Given the description of an element on the screen output the (x, y) to click on. 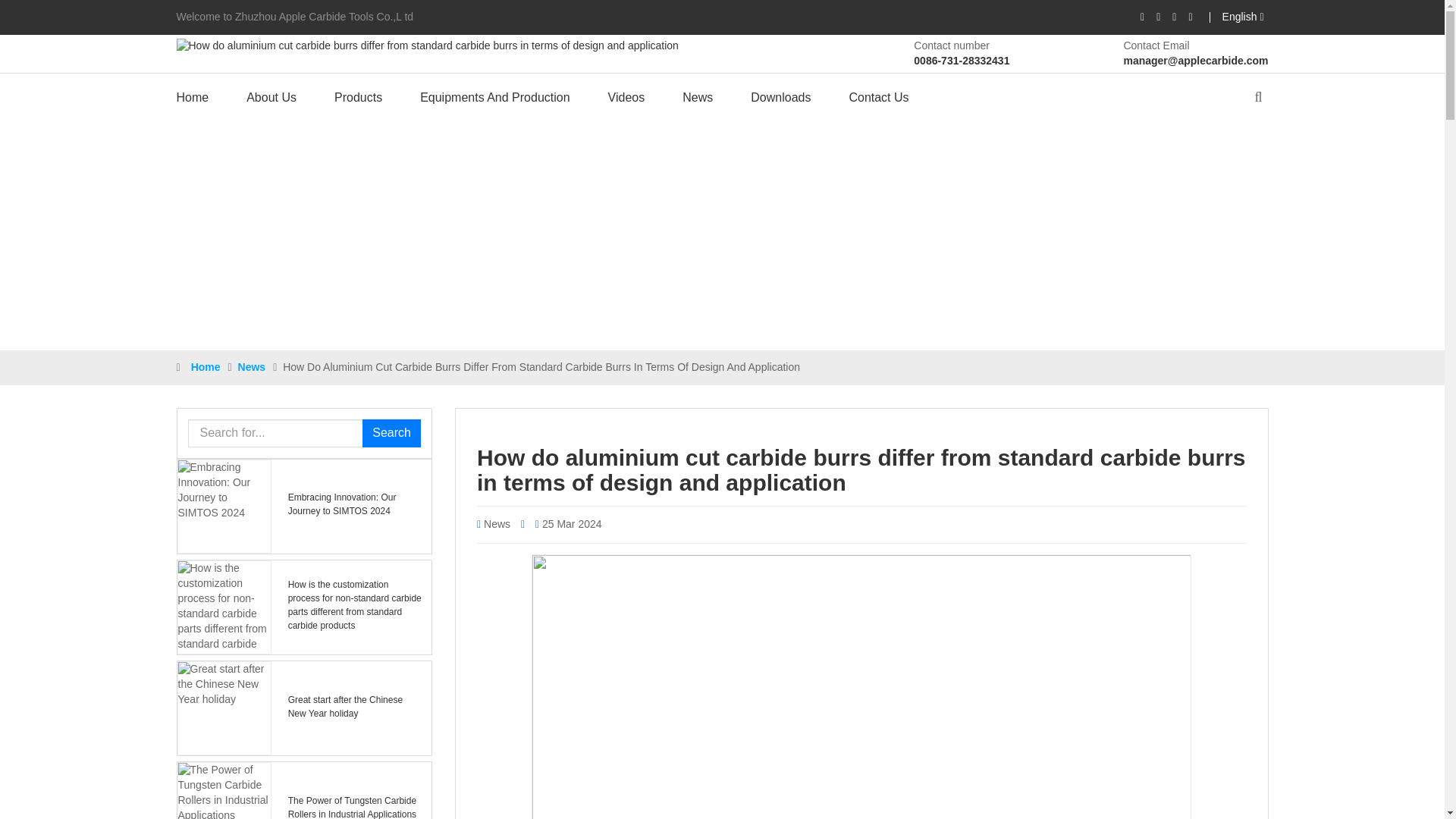
About Us (271, 97)
Products (358, 97)
Home (201, 97)
0086-731-28332431 (961, 60)
English (1242, 17)
